Given the description of an element on the screen output the (x, y) to click on. 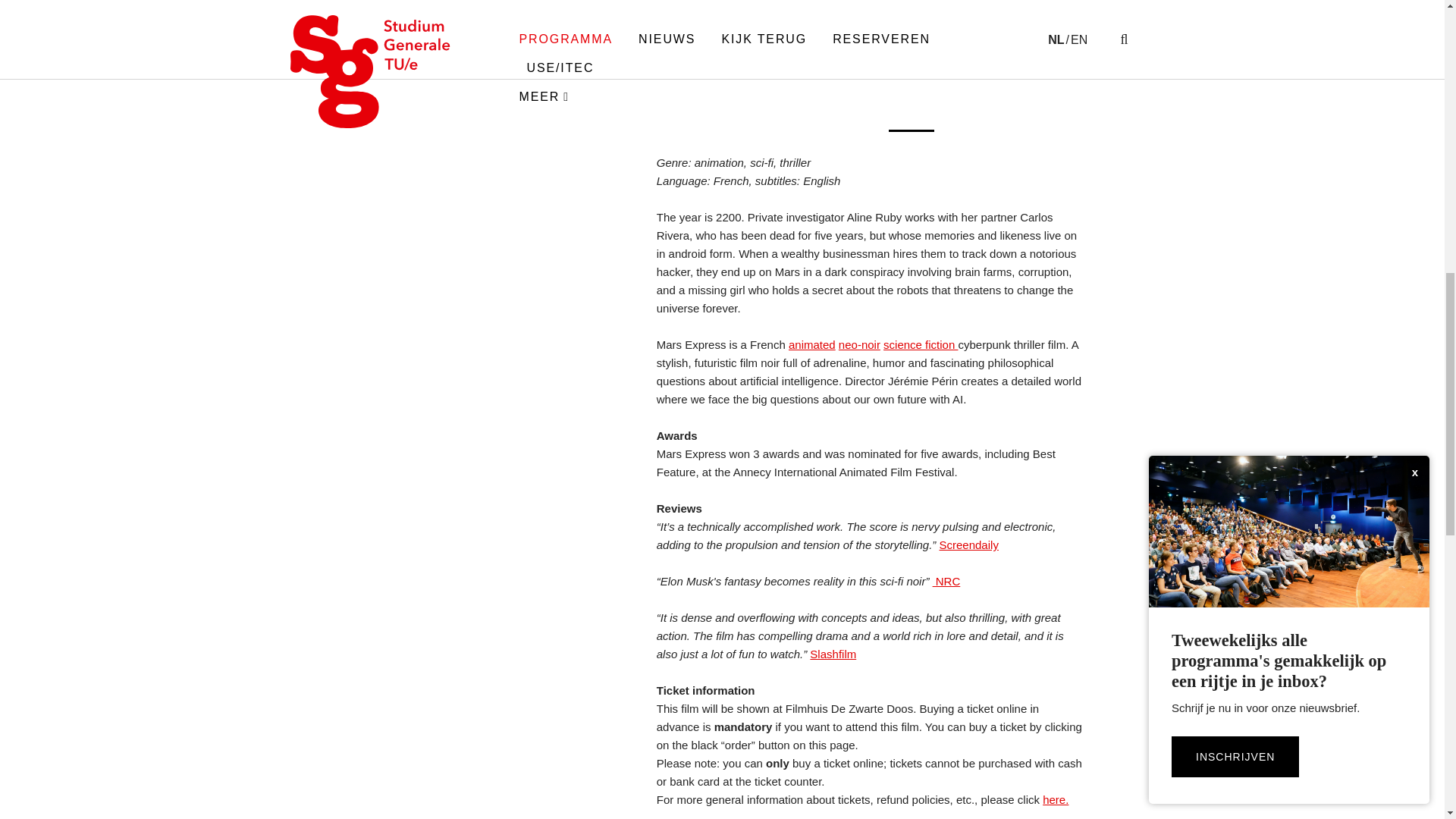
 NRC (946, 581)
animated (812, 344)
Slashfilm (832, 653)
Screendaily (968, 544)
science fiction  (920, 344)
neo-noir (859, 344)
here. (1055, 799)
1 (911, 130)
